Given the description of an element on the screen output the (x, y) to click on. 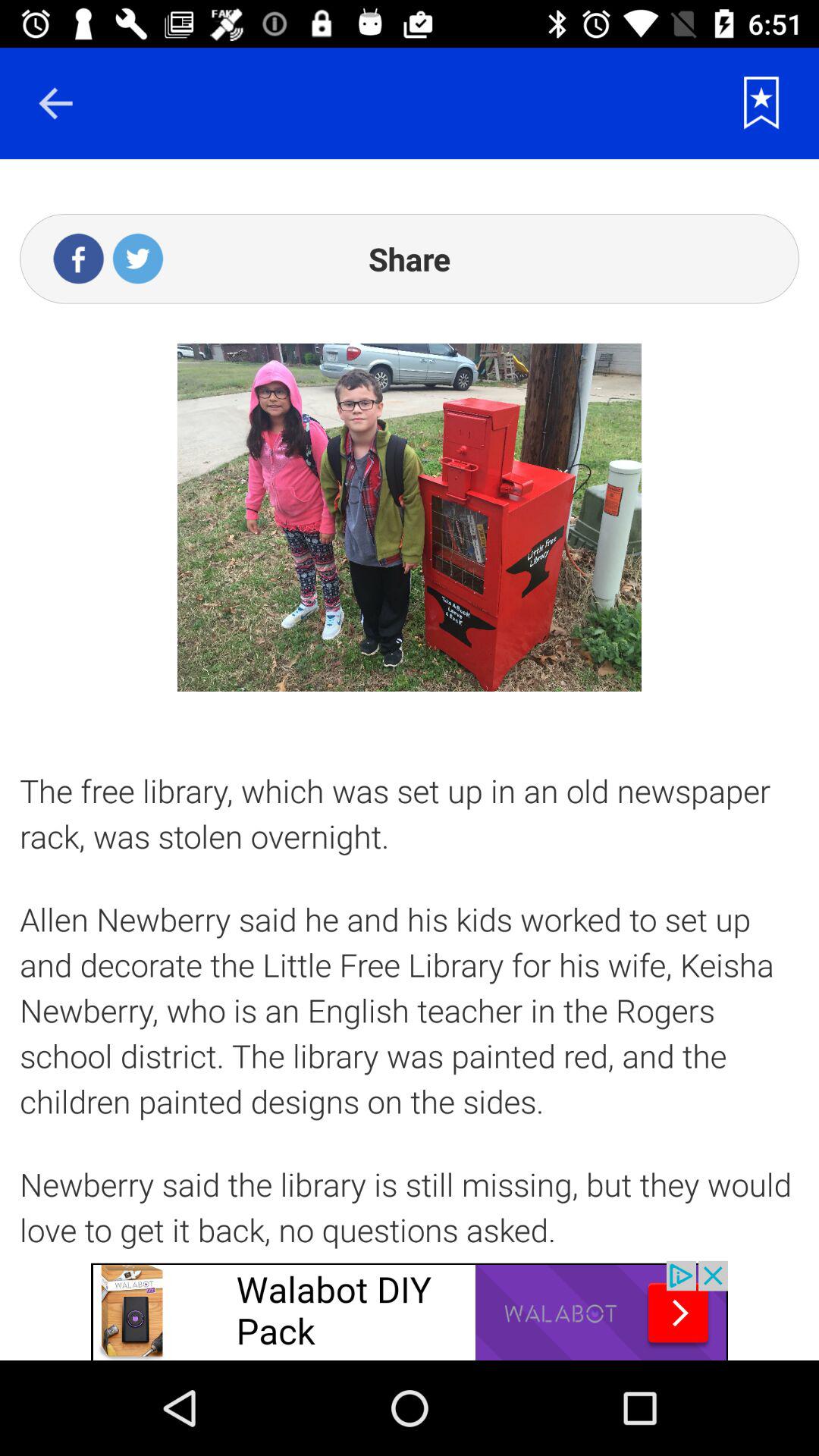
go to rating (761, 102)
